Given the description of an element on the screen output the (x, y) to click on. 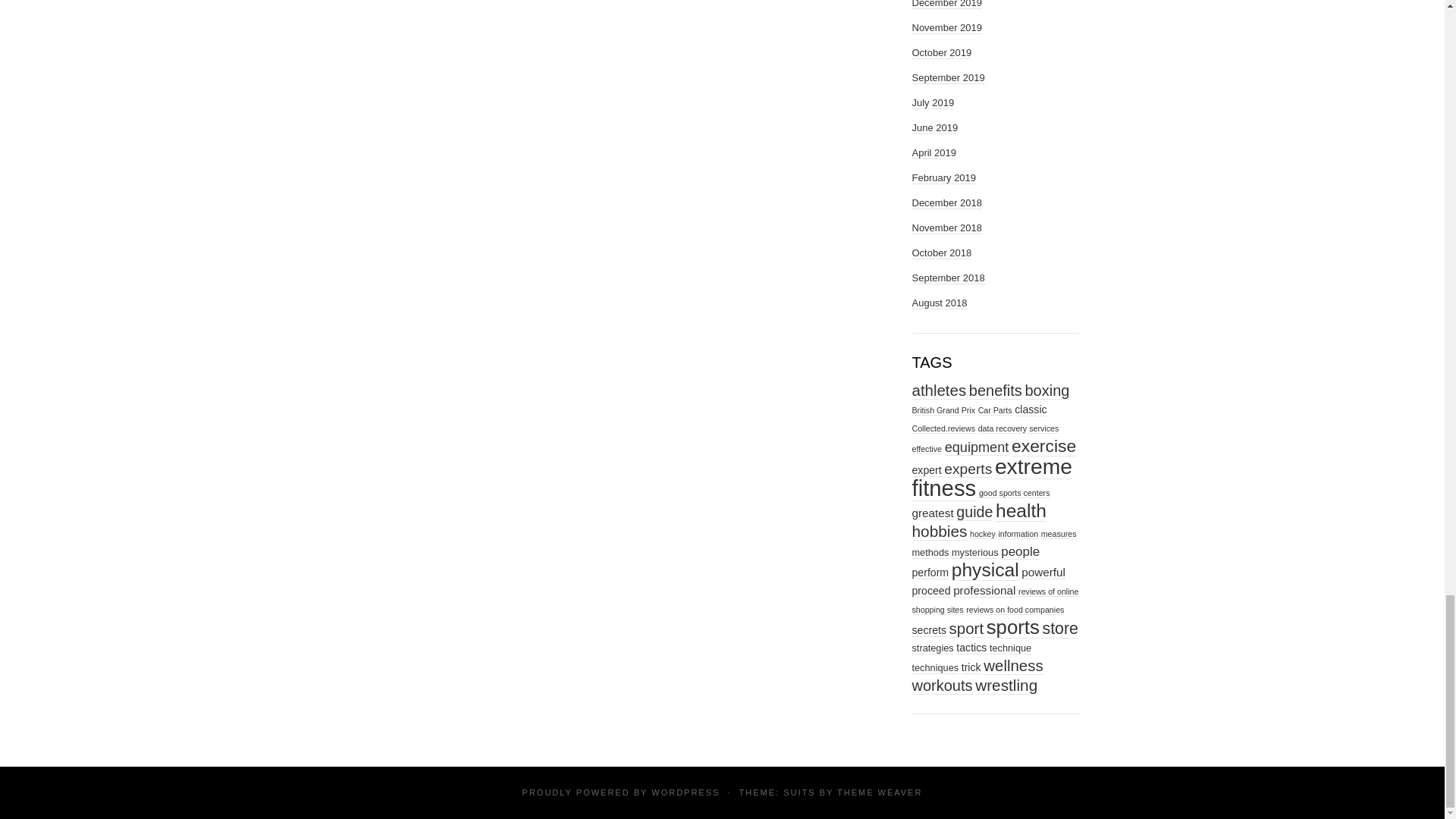
Theme Developer (879, 791)
Semantic Personal Publishing Platform (684, 791)
